Given the description of an element on the screen output the (x, y) to click on. 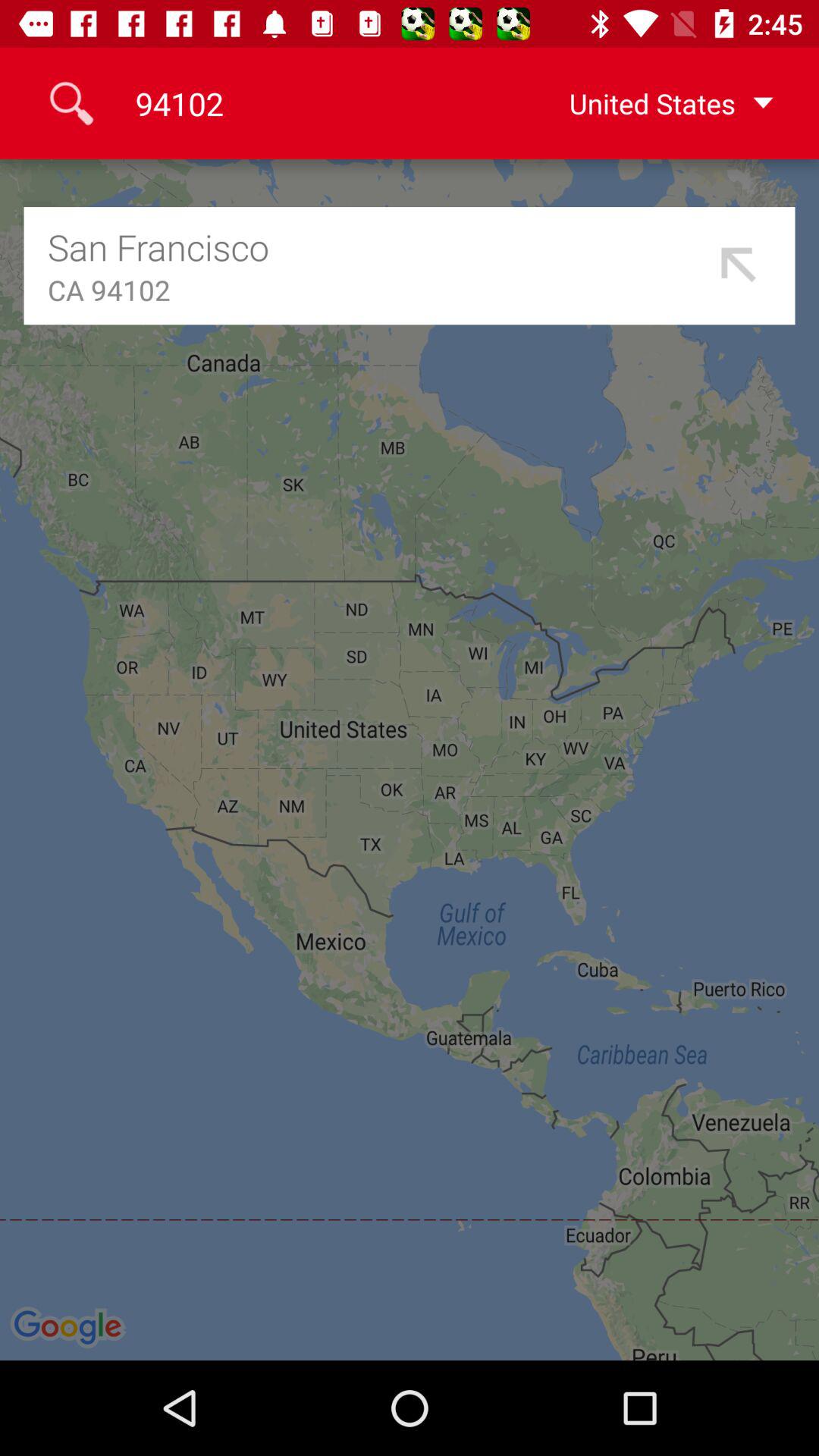
launch the ca 94102 icon (377, 289)
